Given the description of an element on the screen output the (x, y) to click on. 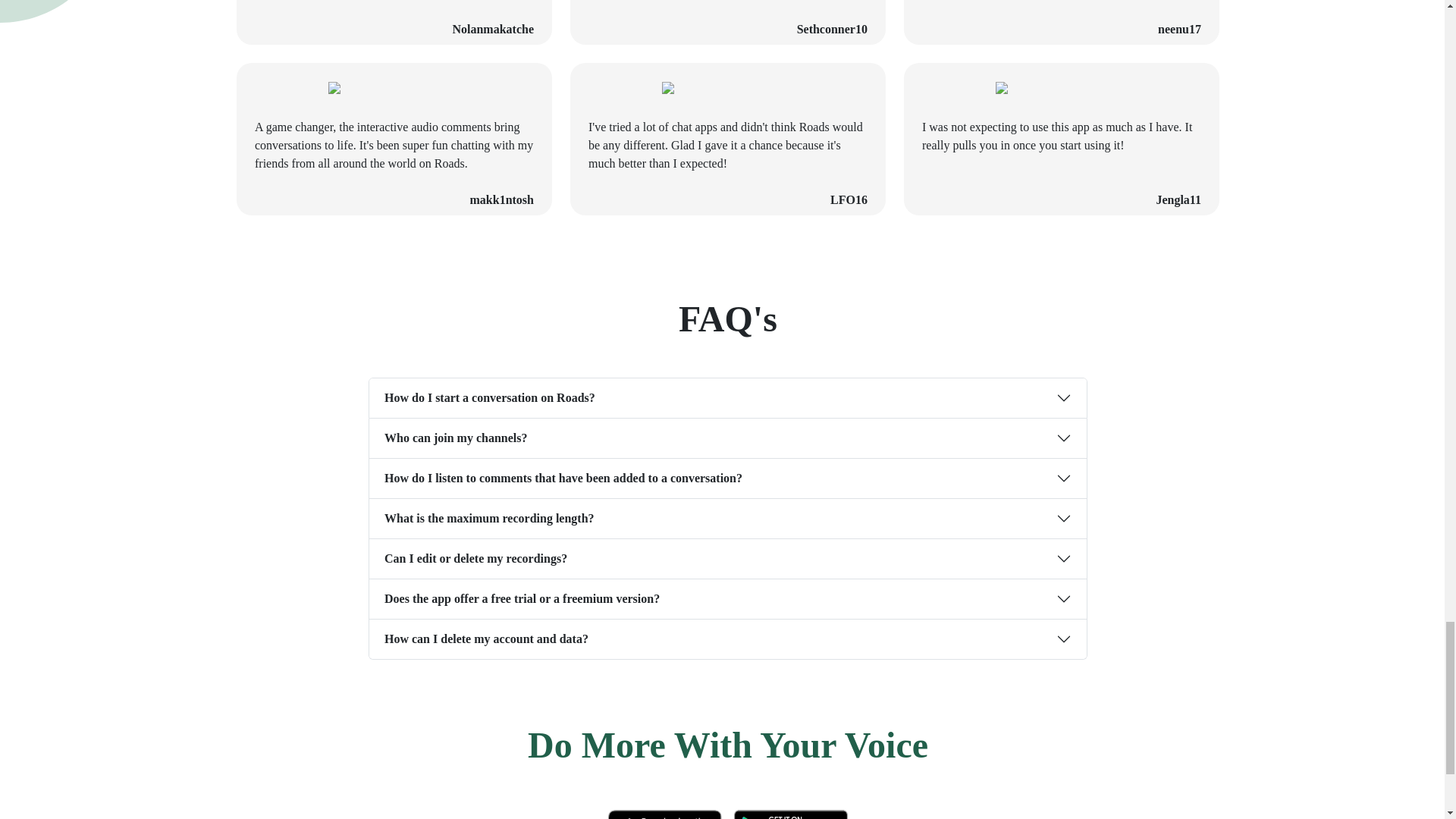
How do I start a conversation on Roads? (727, 397)
Who can join my channels? (727, 437)
What is the maximum recording length? (727, 518)
Can I edit or delete my recordings? (727, 558)
Does the app offer a free trial or a freemium version? (727, 599)
How can I delete my account and data? (727, 639)
